Given the description of an element on the screen output the (x, y) to click on. 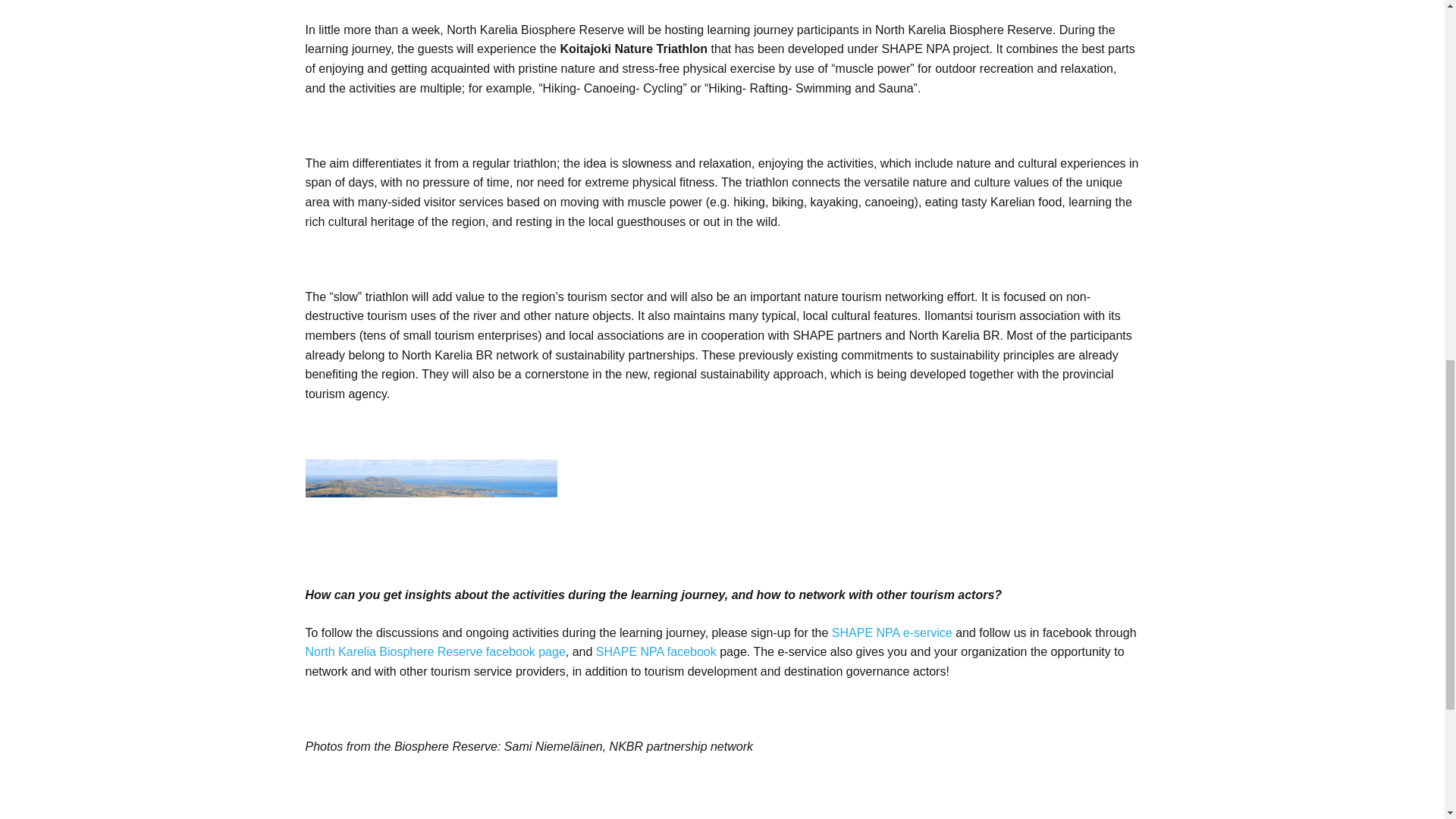
SHAPE NPA facebook (655, 651)
SHAPE NPA e-service (891, 632)
North Karelia Biosphere Reserve facebook page (434, 651)
